Given the description of an element on the screen output the (x, y) to click on. 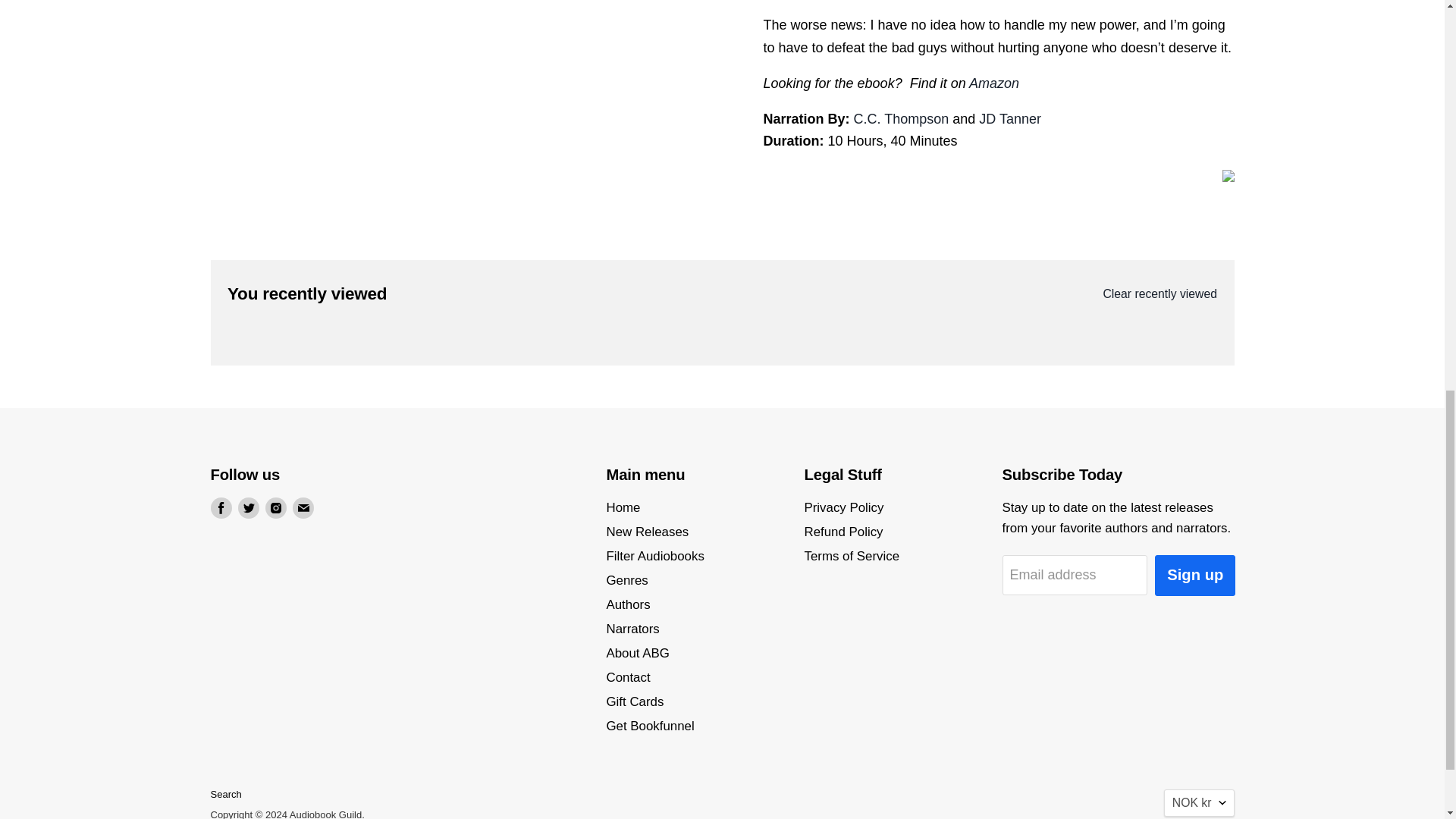
Twitter (248, 507)
Facebook (221, 507)
Instagram (275, 507)
Email (303, 507)
